Given the description of an element on the screen output the (x, y) to click on. 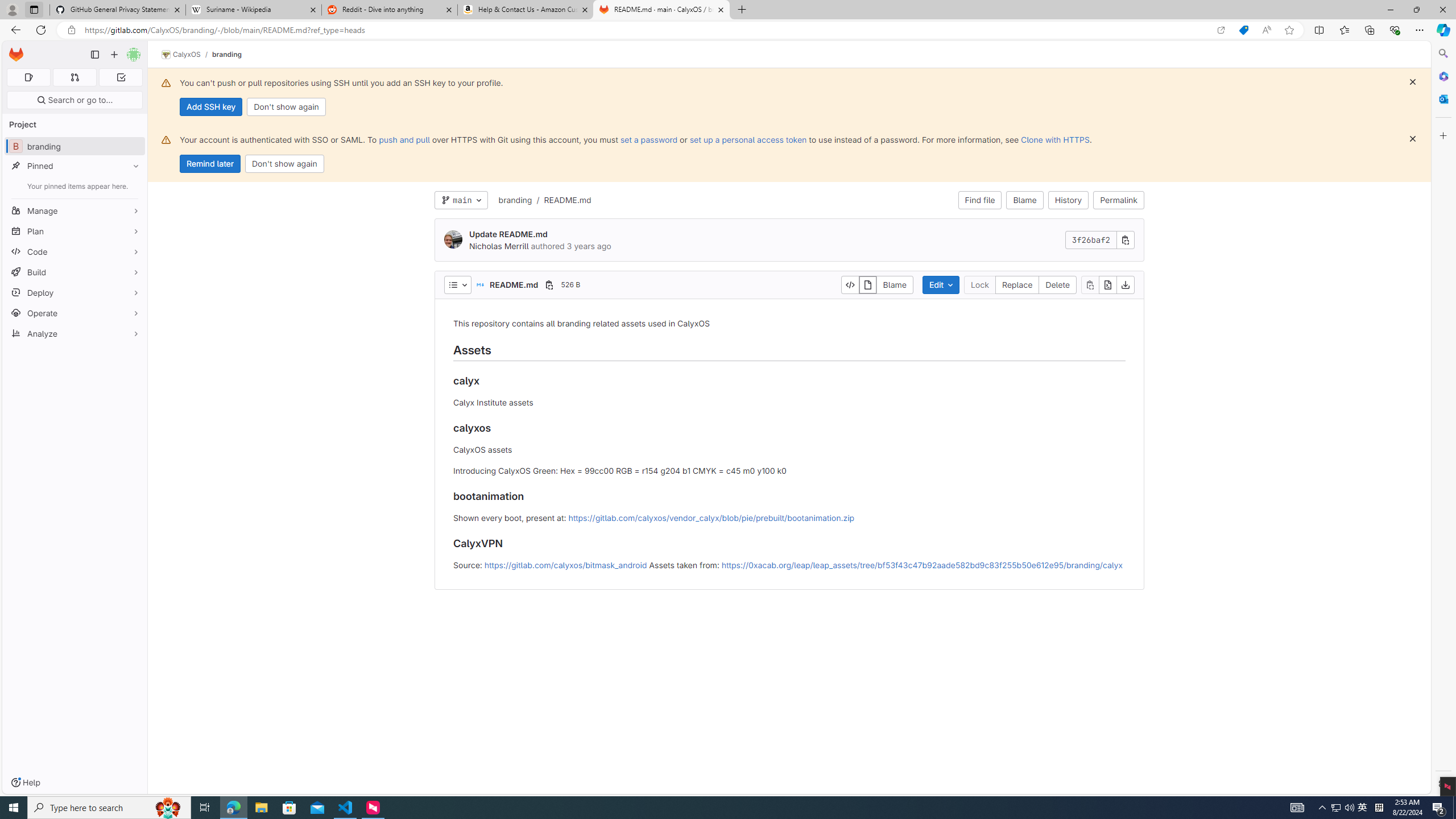
Remind later (210, 163)
Build (74, 271)
branding (514, 199)
CalyxOS (180, 54)
README.md (567, 199)
set up a personal access token (747, 139)
Blame (1024, 199)
